Given the description of an element on the screen output the (x, y) to click on. 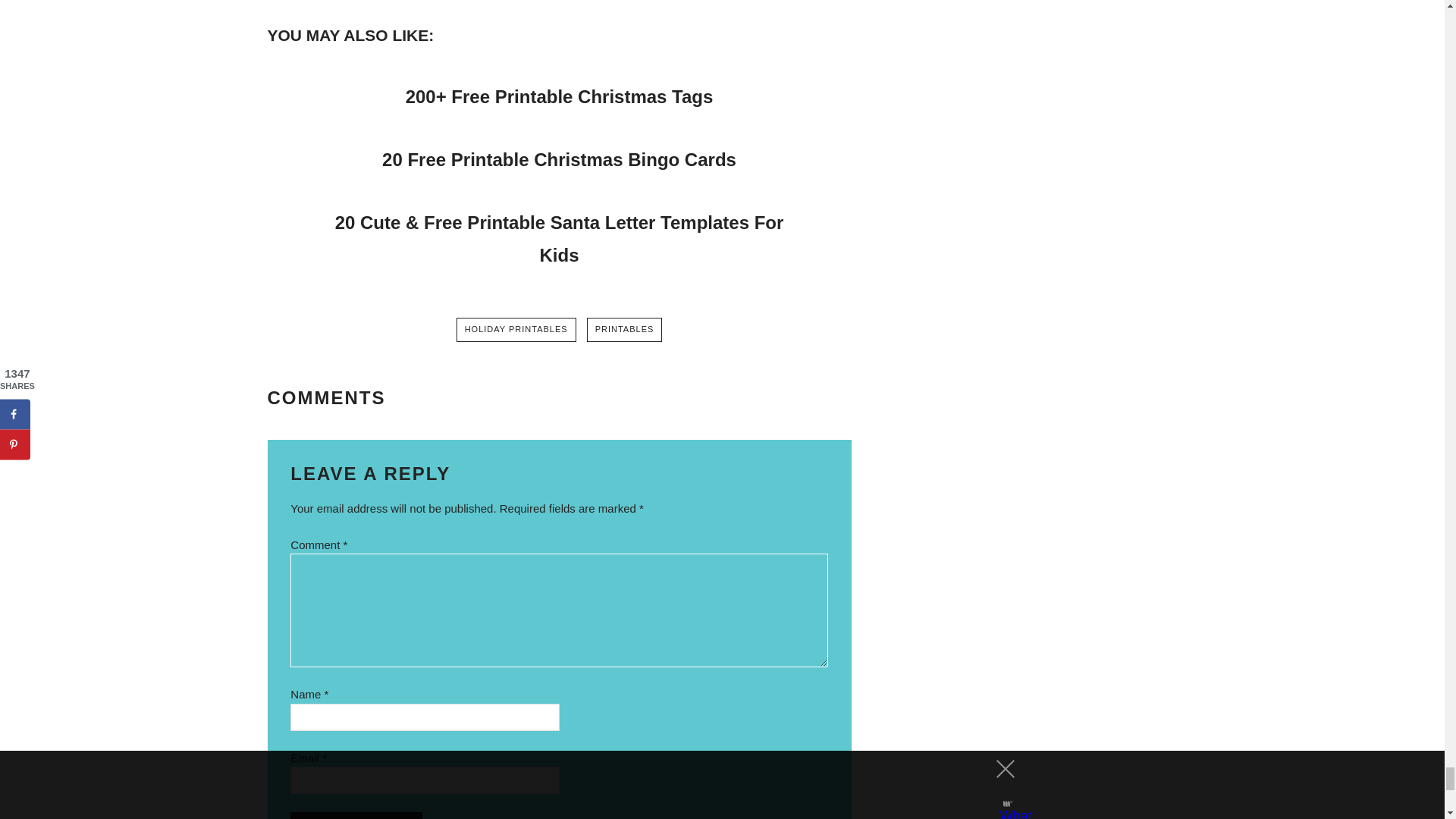
Post Comment (355, 815)
